Given the description of an element on the screen output the (x, y) to click on. 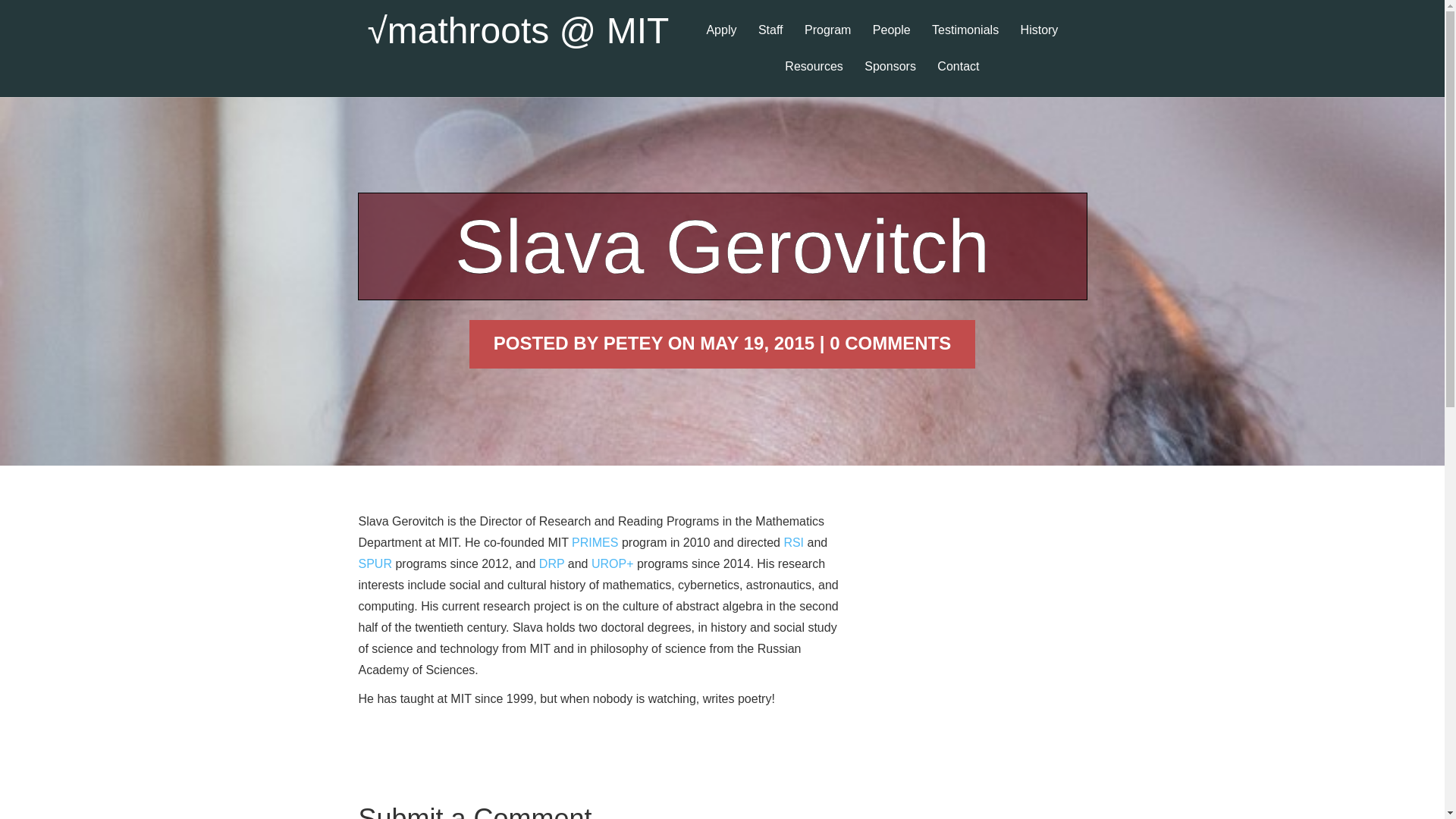
Staff (770, 42)
RSI (793, 542)
DRP (551, 563)
PETEY (633, 342)
PRIMES (594, 542)
Apply (721, 42)
Sponsors (890, 78)
Program (827, 42)
Resources (813, 78)
Contact (958, 78)
SPUR (374, 563)
Testimonials (965, 42)
History (1039, 42)
0 COMMENTS (889, 342)
People (891, 42)
